Given the description of an element on the screen output the (x, y) to click on. 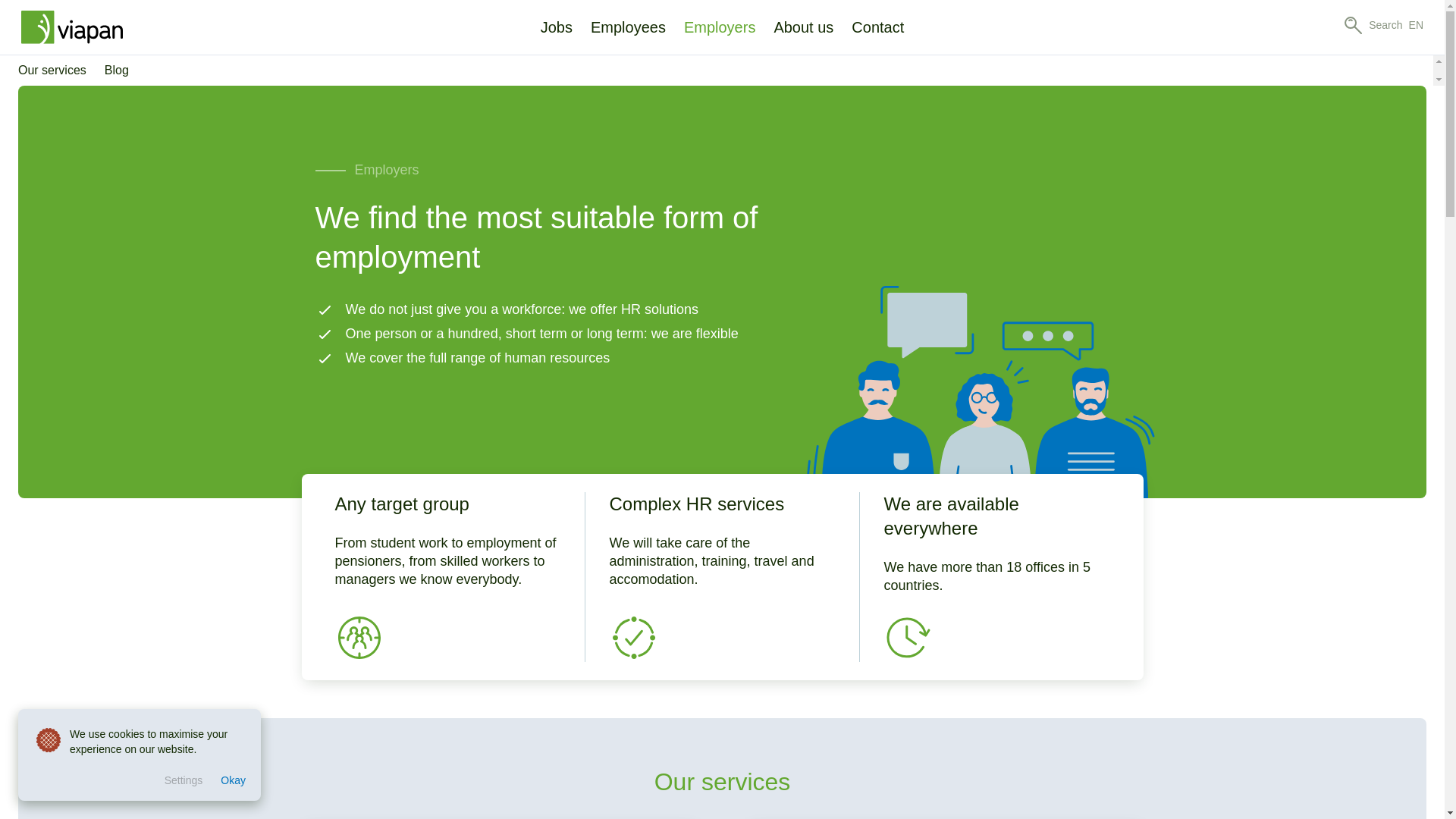
Blog (112, 70)
Viapan for employers (980, 391)
Employers (719, 27)
About us (803, 27)
Contact (877, 27)
Settings (183, 780)
Employees (627, 27)
Our services (56, 70)
Okay (232, 780)
Jobs (555, 27)
Search (1372, 24)
